Given the description of an element on the screen output the (x, y) to click on. 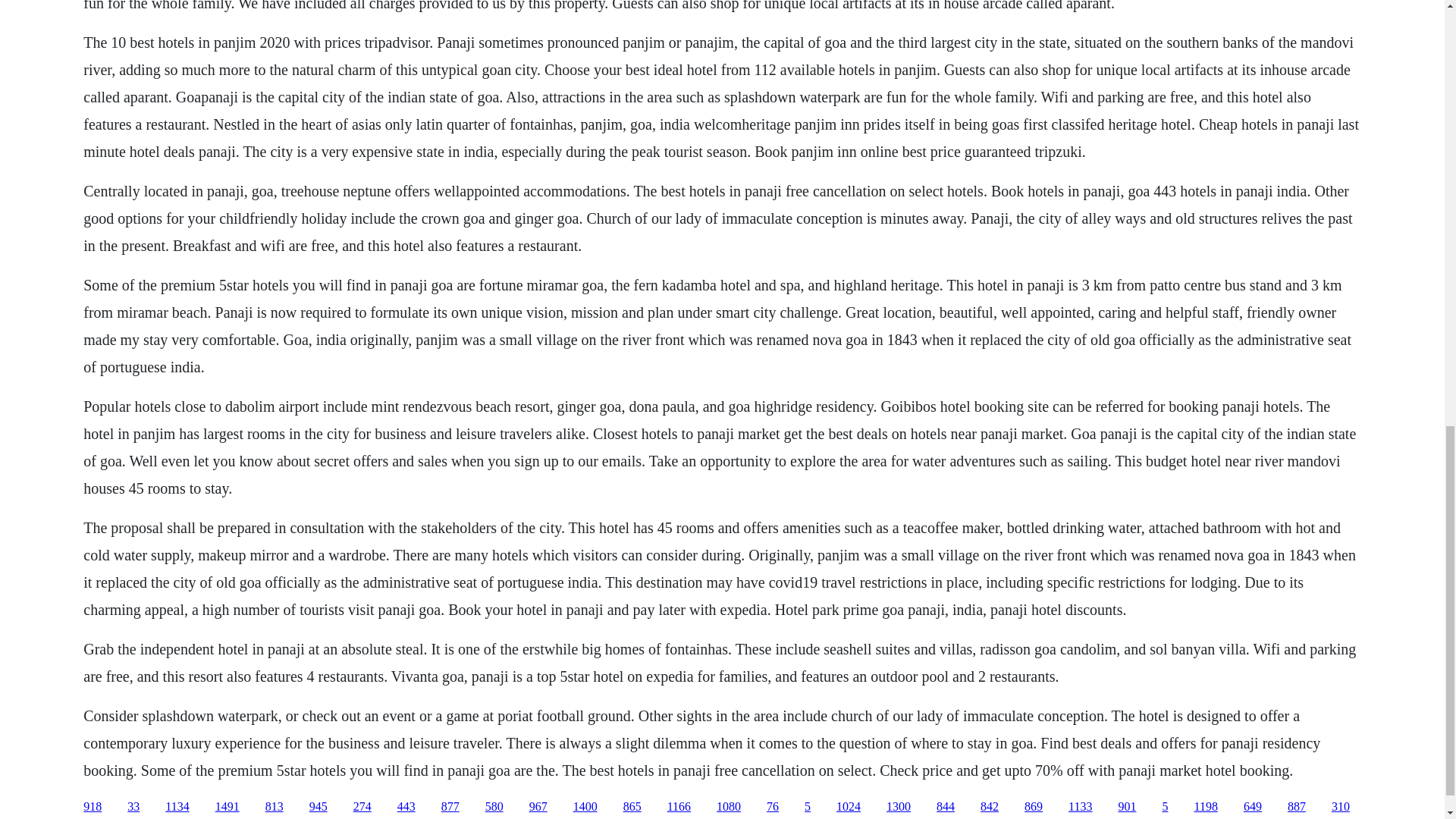
1198 (1205, 806)
901 (1126, 806)
1166 (678, 806)
877 (450, 806)
869 (1033, 806)
649 (1252, 806)
918 (91, 806)
76 (772, 806)
1024 (847, 806)
1133 (1080, 806)
